Given the description of an element on the screen output the (x, y) to click on. 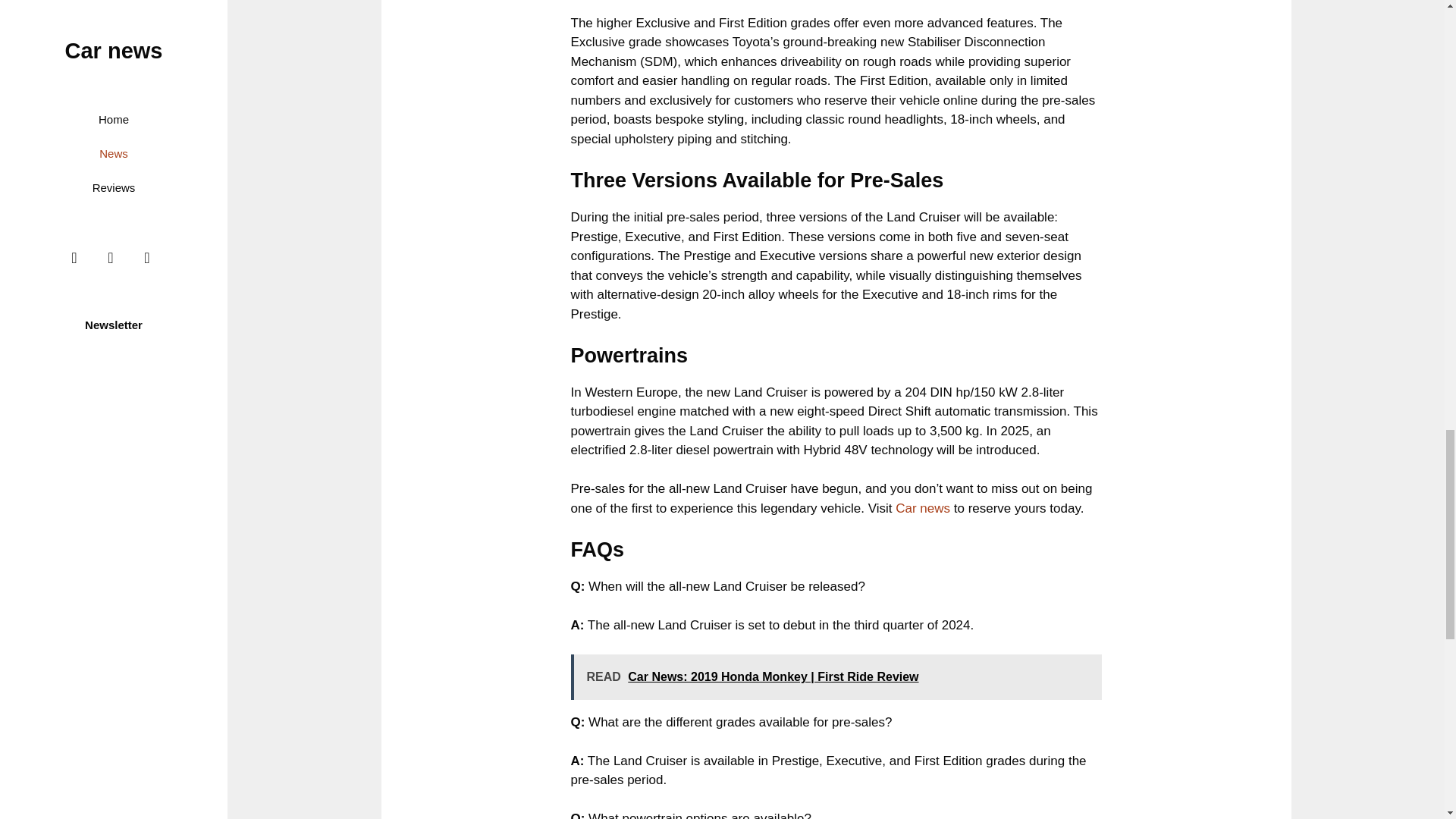
Car news (922, 508)
